Given the description of an element on the screen output the (x, y) to click on. 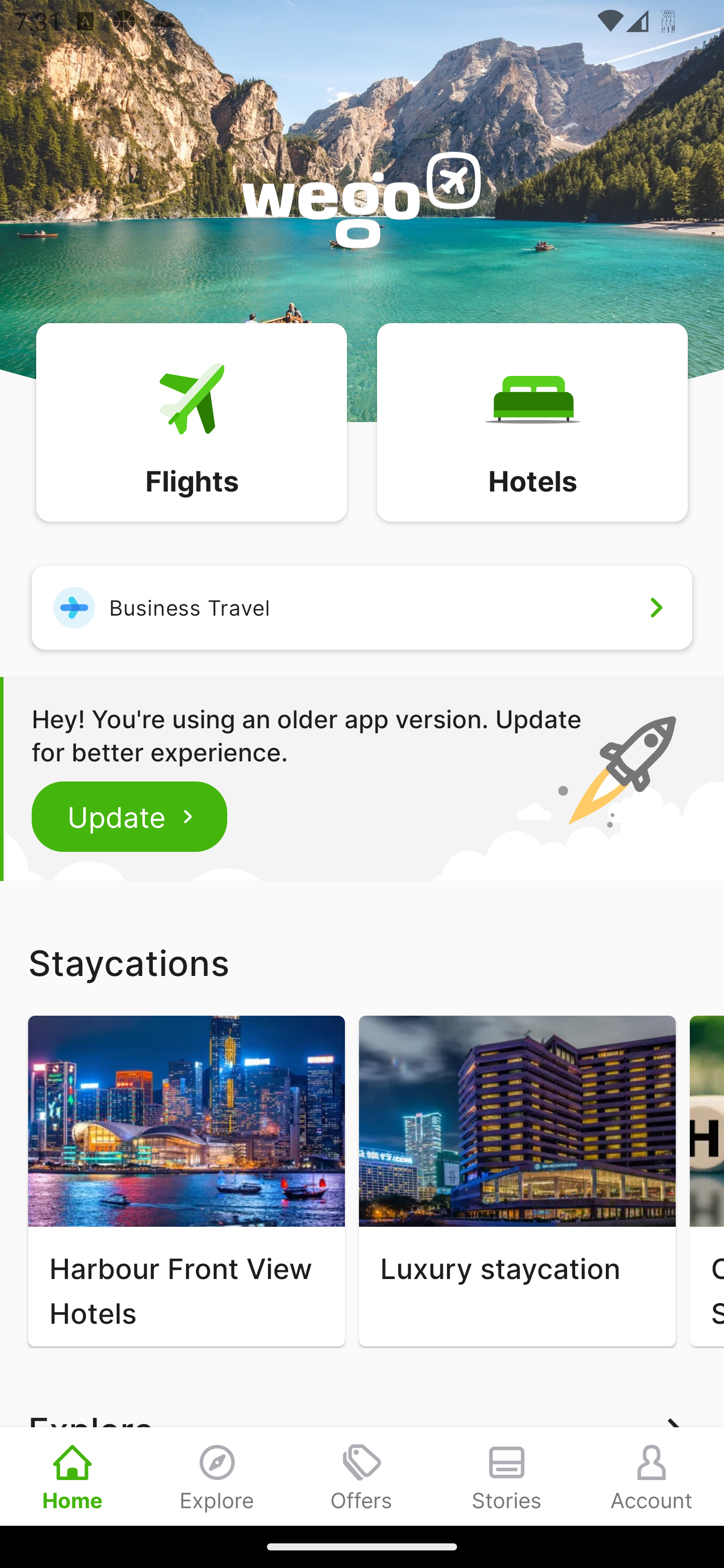
Flights (191, 420)
Hotels (532, 420)
Business Travel (361, 607)
Update (129, 815)
Staycations (362, 962)
Harbour Front View Hotels (186, 1181)
Luxury staycation (517, 1181)
Explore (216, 1475)
Offers (361, 1475)
Stories (506, 1475)
Account (651, 1475)
